Given the description of an element on the screen output the (x, y) to click on. 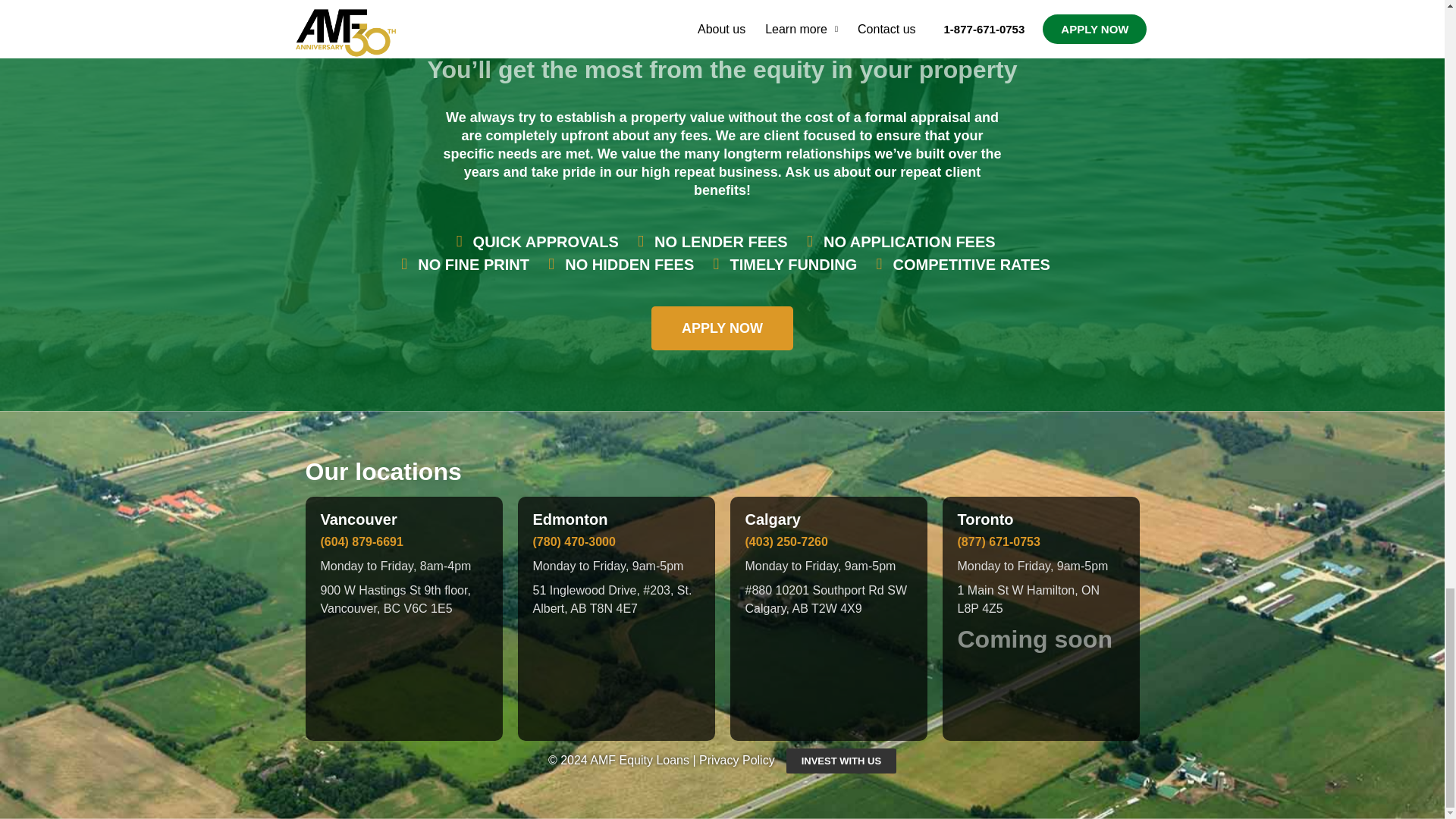
Privacy Policy (736, 759)
AMF Equity loans calgary (827, 674)
AMF Equity loans st albert (615, 674)
AMF Equity loans vancouver (403, 674)
